Given the description of an element on the screen output the (x, y) to click on. 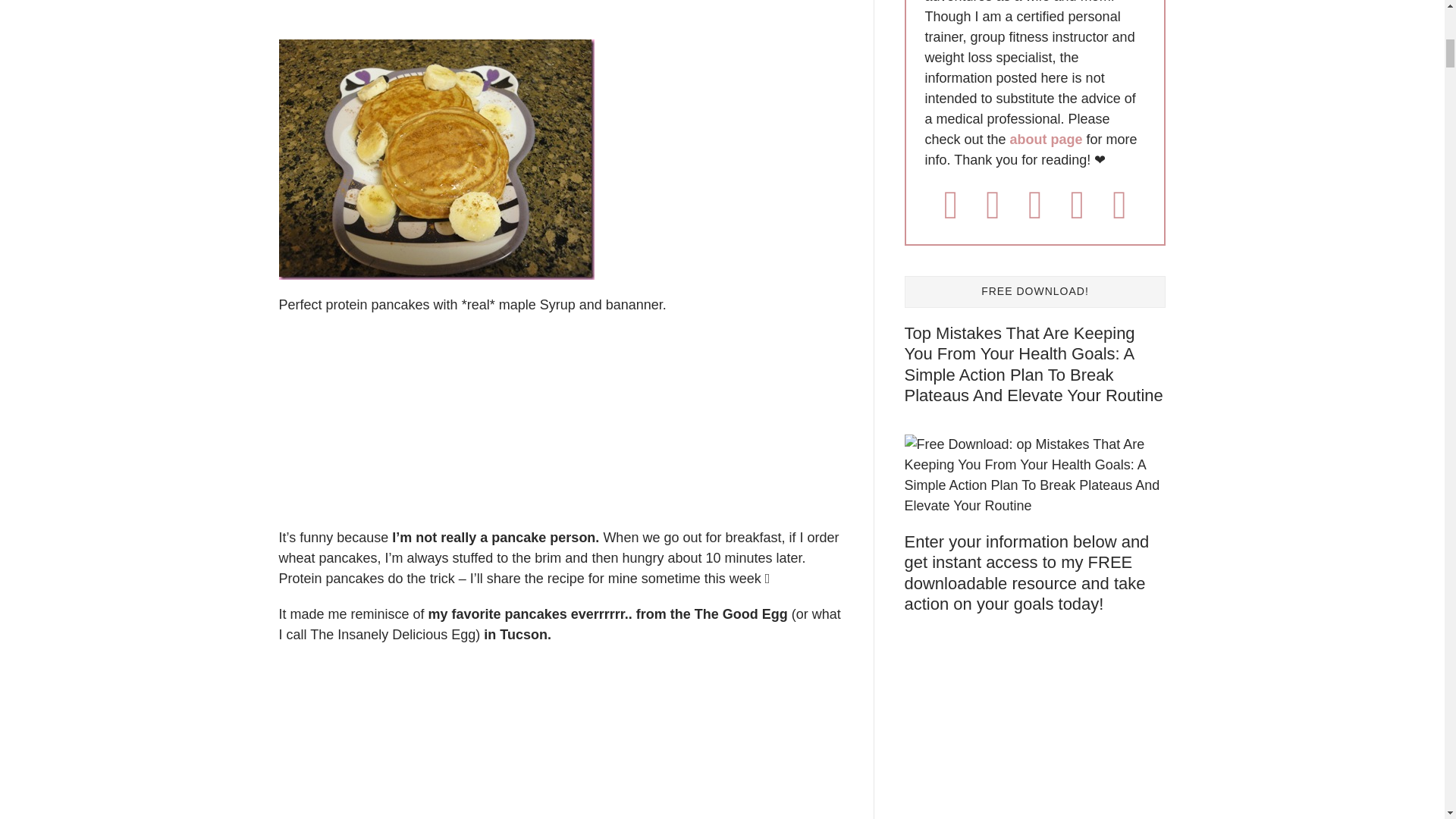
pancake (441, 739)
pancake (436, 159)
